Given the description of an element on the screen output the (x, y) to click on. 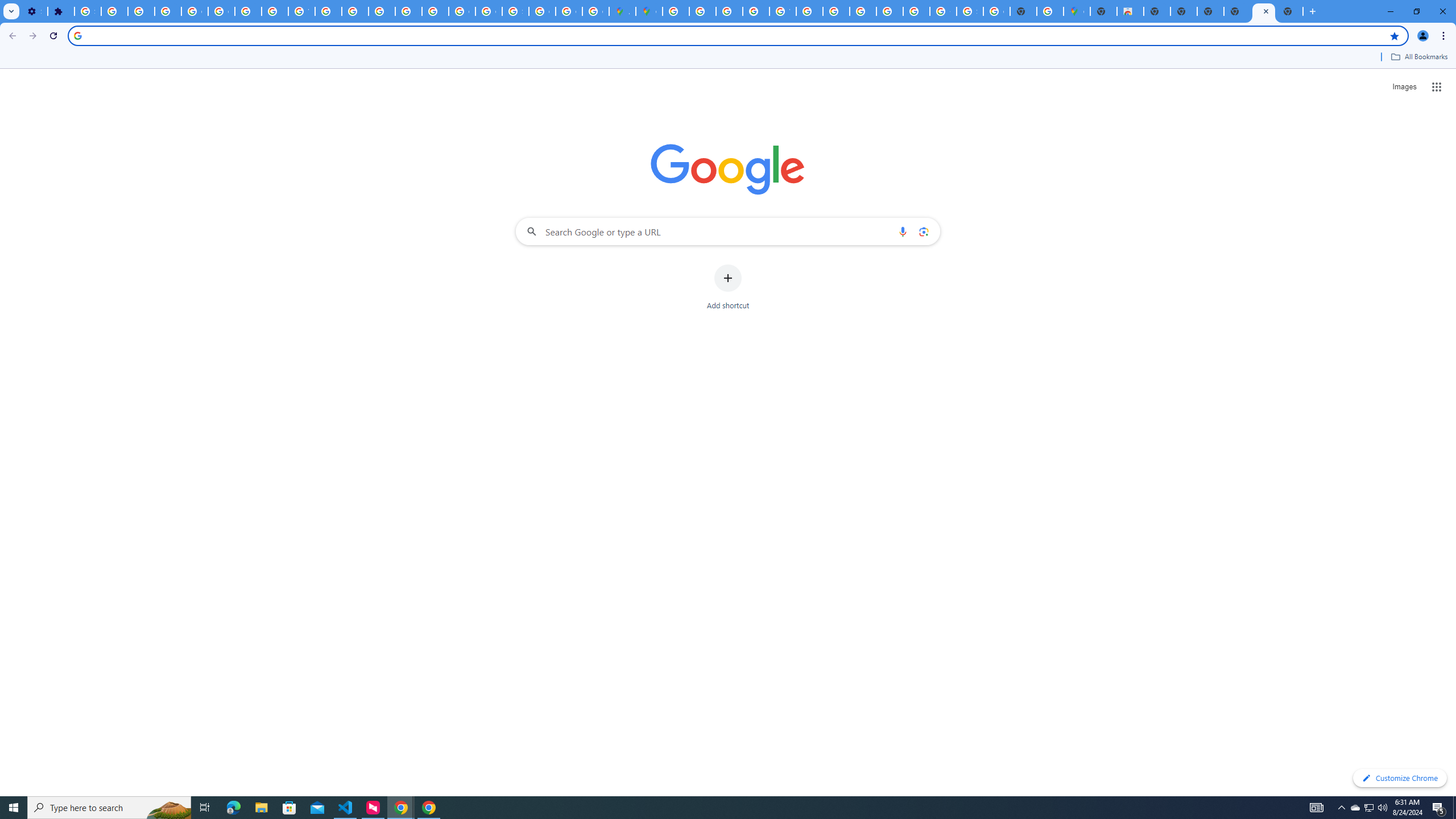
Policy Accountability and Transparency - Transparency Center (676, 11)
Add shortcut (727, 287)
All Bookmarks (1418, 56)
Google Maps (649, 11)
Bookmarks (728, 58)
Search by voice (902, 230)
Privacy Help Center - Policies Help (702, 11)
